Given the description of an element on the screen output the (x, y) to click on. 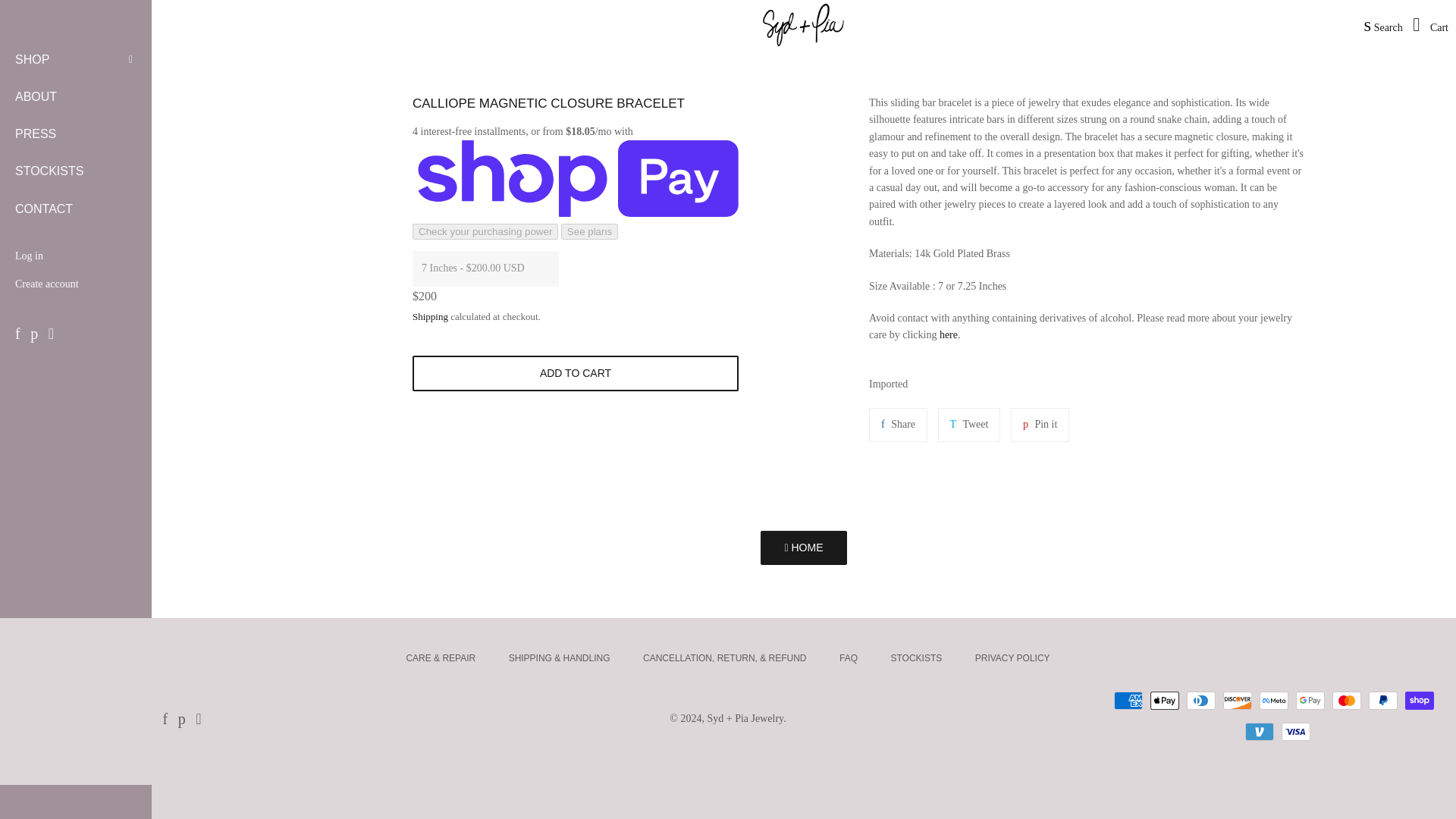
ABOUT (75, 97)
Shipping (430, 316)
Log in (75, 256)
Shop Pay (1419, 700)
Create account (75, 284)
jewelry care (948, 334)
Mastercard (1346, 700)
SHOP (60, 59)
Meta Pay (1273, 700)
Pin on Pinterest (1039, 424)
